Given the description of an element on the screen output the (x, y) to click on. 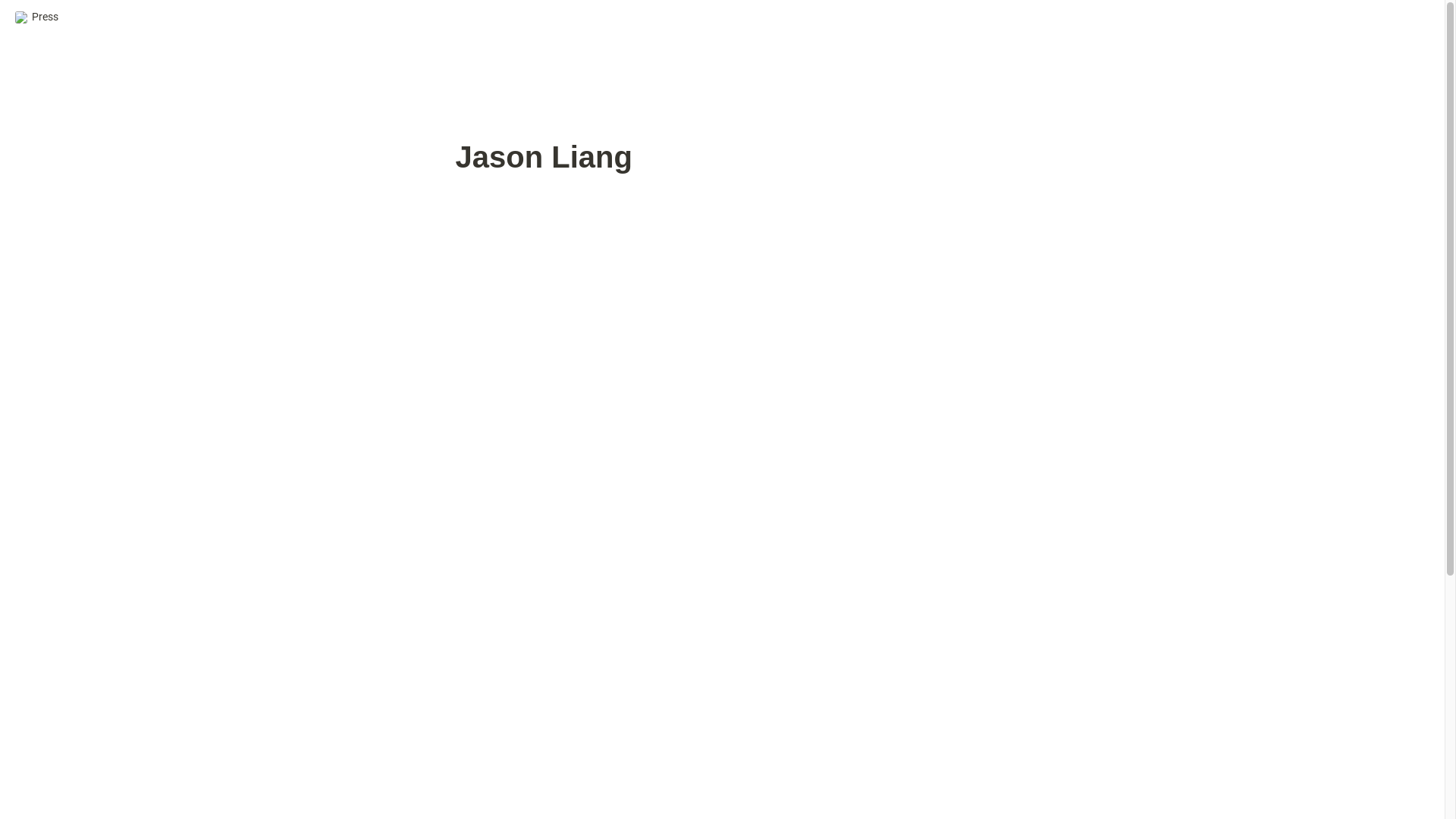
Press Element type: text (36, 16)
